Given the description of an element on the screen output the (x, y) to click on. 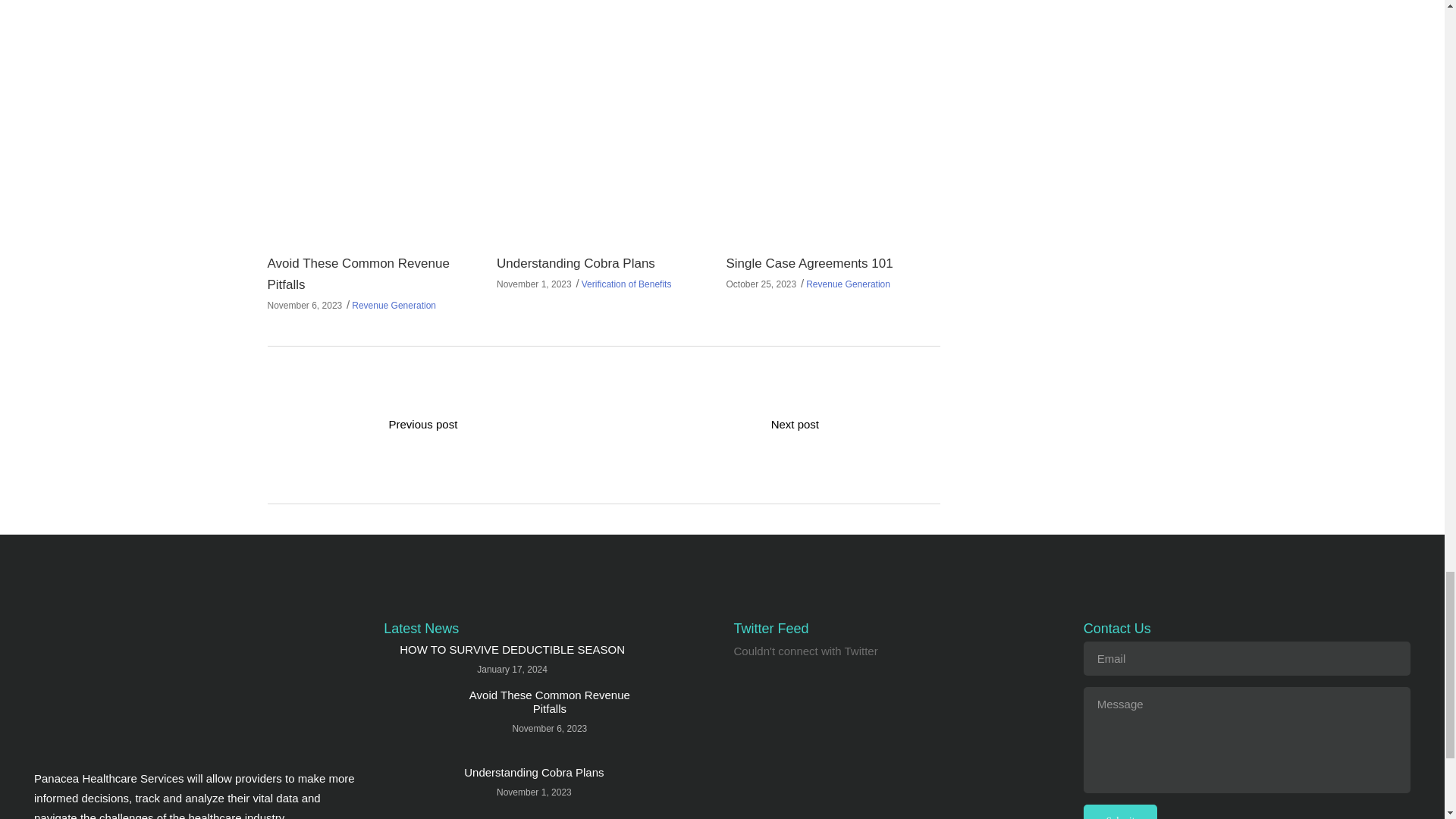
Avoid These Common Revenue Pitfalls (373, 124)
Avoid These Common Revenue Pitfalls (357, 273)
Understanding Cobra Plans (575, 263)
Avoid These Common Revenue Pitfalls (549, 701)
HOW TO SURVIVE DEDUCTIBLE SEASON (511, 649)
Single Case Agreements 101 (808, 263)
Understanding Cobra Plans (416, 791)
Single Case Agreements 101 (832, 124)
Avoid These Common Revenue Pitfalls (416, 719)
Submit (1120, 811)
Understanding Cobra Plans (603, 124)
